Given the description of an element on the screen output the (x, y) to click on. 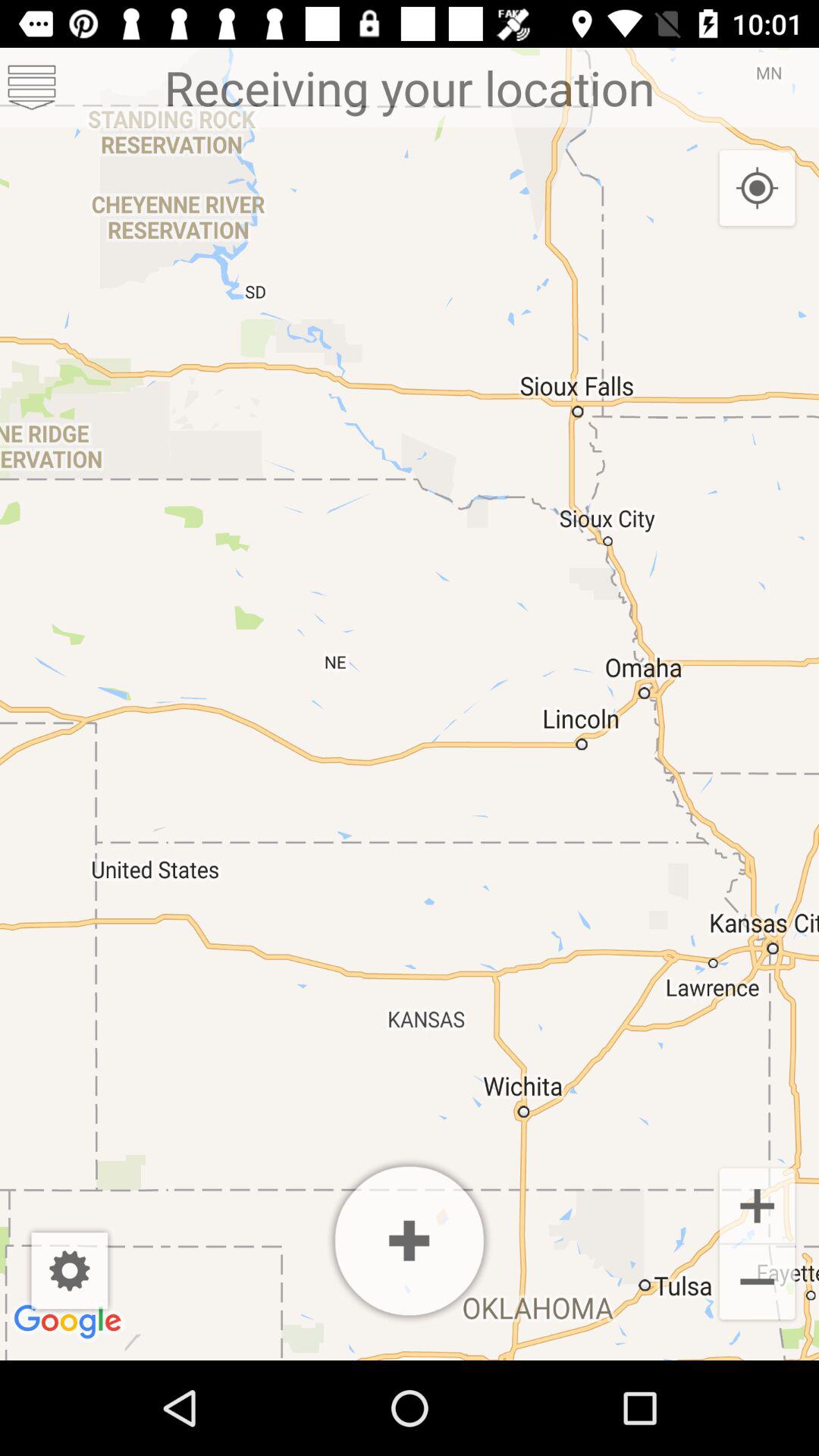
tap the item at the top right corner (757, 188)
